Given the description of an element on the screen output the (x, y) to click on. 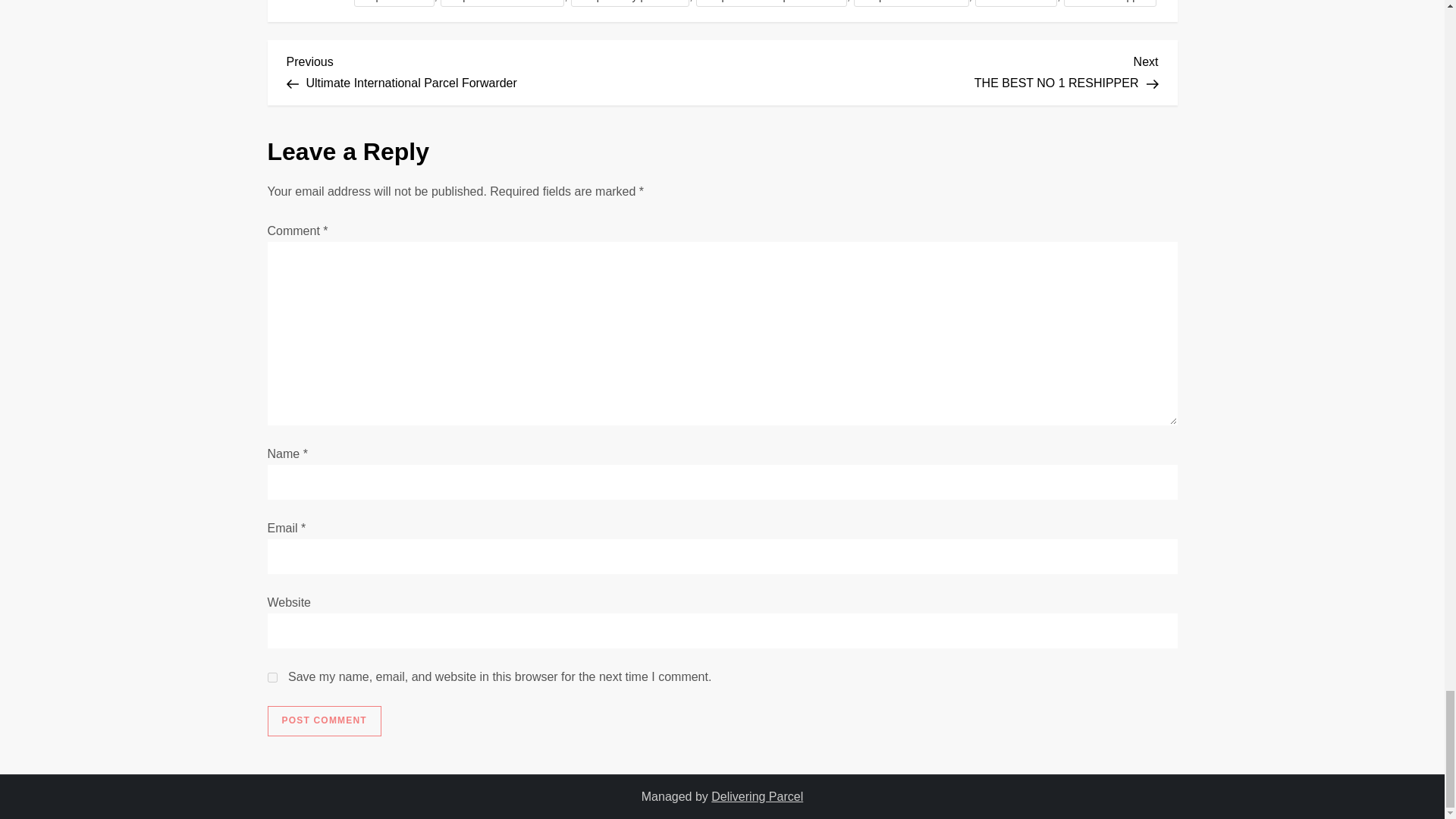
yes (271, 677)
shop beauty products (629, 3)
usa forwarder (1016, 3)
Post Comment (939, 70)
ship from vinted to usa (323, 720)
shop online from usa (502, 3)
ship from usa (911, 3)
vinted reshipper (393, 3)
shop from eu ship to canada (504, 70)
Post Comment (1110, 3)
